Given the description of an element on the screen output the (x, y) to click on. 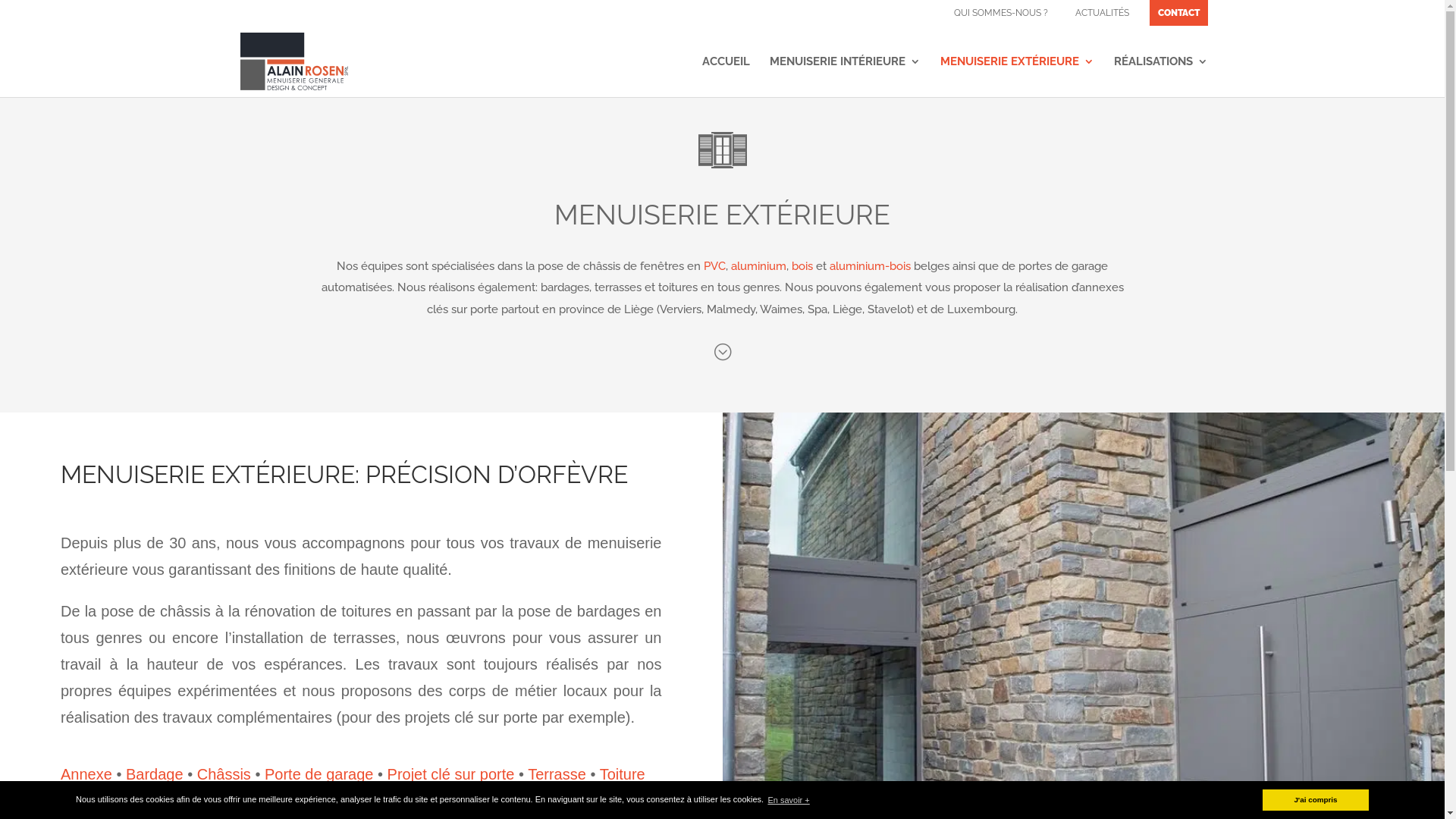
ACCUEIL Element type: text (725, 76)
Porte de garage Element type: text (318, 773)
Bardage Element type: text (154, 773)
; Element type: text (721, 351)
En savoir + Element type: text (788, 799)
PVC Element type: text (714, 266)
CONTACT Element type: text (1178, 12)
bois Element type: text (801, 266)
Annexe Element type: text (86, 773)
J'ai compris Element type: text (1315, 799)
aluminium-bois Element type: text (869, 266)
Terrasse Element type: text (556, 773)
QUI SOMMES-NOUS ? Element type: text (1000, 12)
aluminium Element type: text (758, 266)
Toiture Element type: text (622, 773)
